Given the description of an element on the screen output the (x, y) to click on. 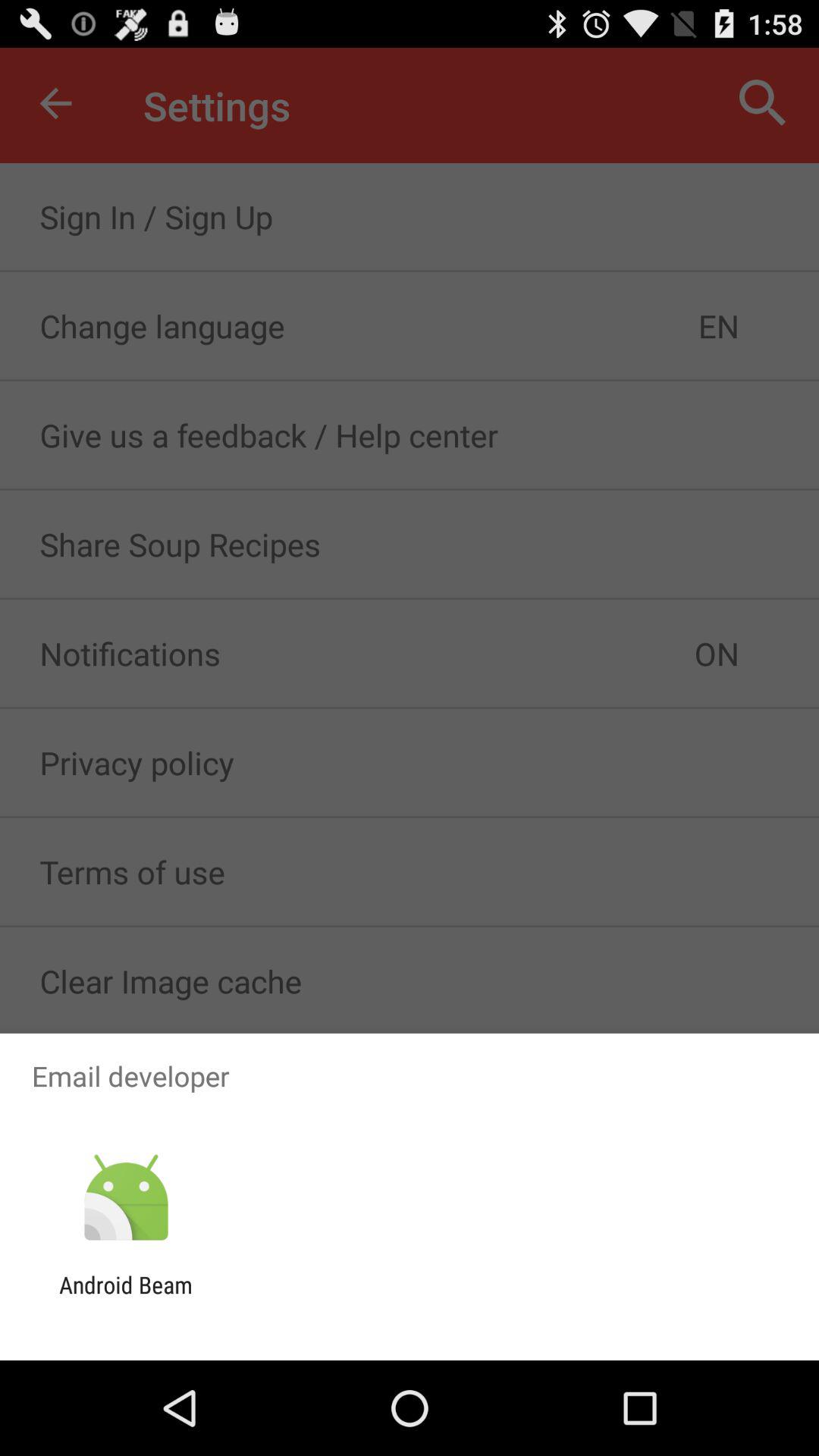
swipe to android beam (125, 1298)
